Given the description of an element on the screen output the (x, y) to click on. 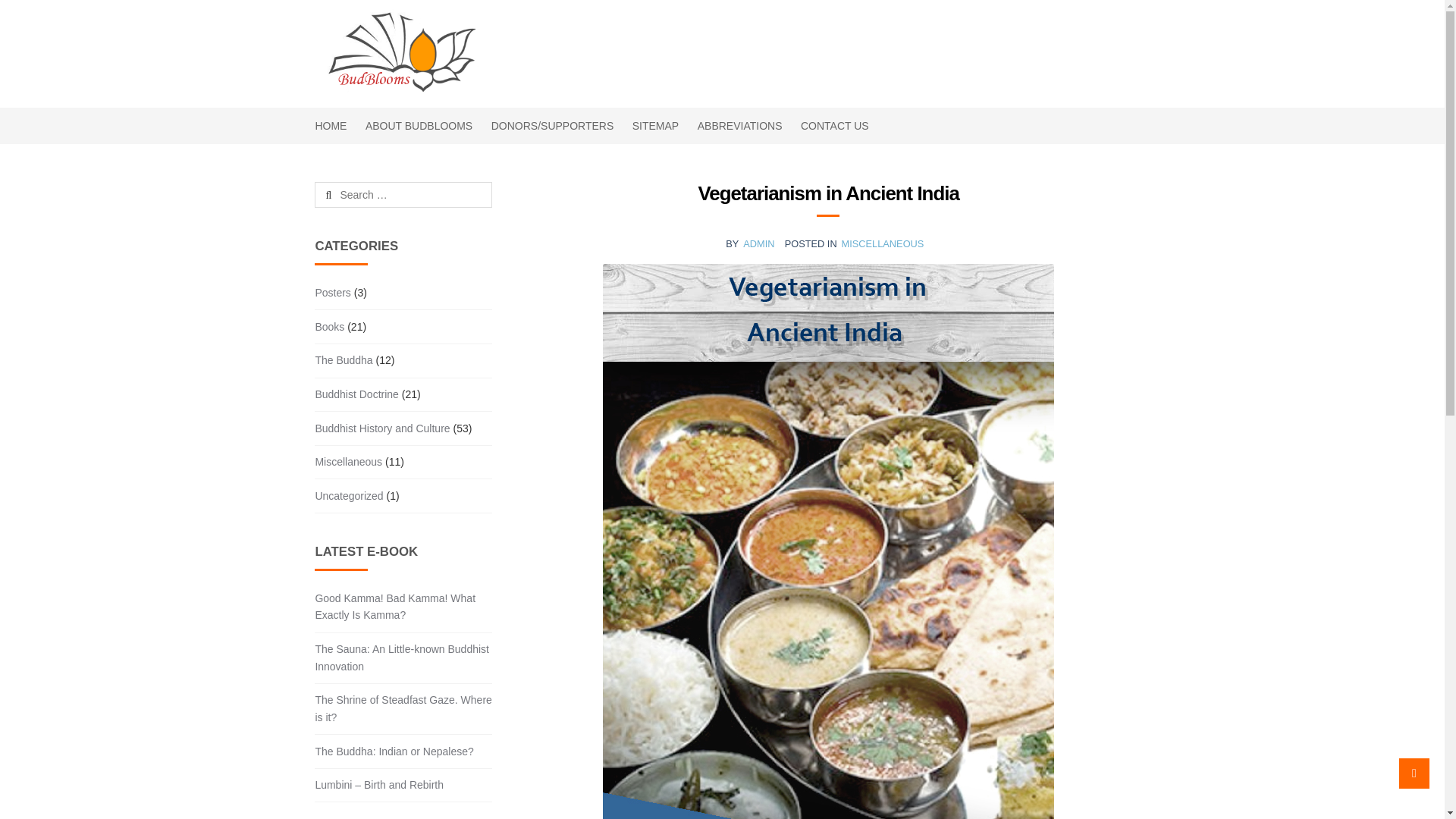
Search (351, 194)
Buddhist Doctrine (356, 394)
ADMIN (758, 243)
Buddhist History and Culture (381, 428)
ABOUT BUDBLOOMS (418, 125)
The Sauna: An Little-known Buddhist Innovation (401, 657)
Search (351, 194)
Skip to content (354, 9)
The Buddha: Indian or Nepalese? (393, 751)
SITEMAP (655, 125)
Posters (332, 293)
CONTACT US (834, 125)
Search (351, 194)
Books (328, 326)
Miscellaneous (347, 461)
